Given the description of an element on the screen output the (x, y) to click on. 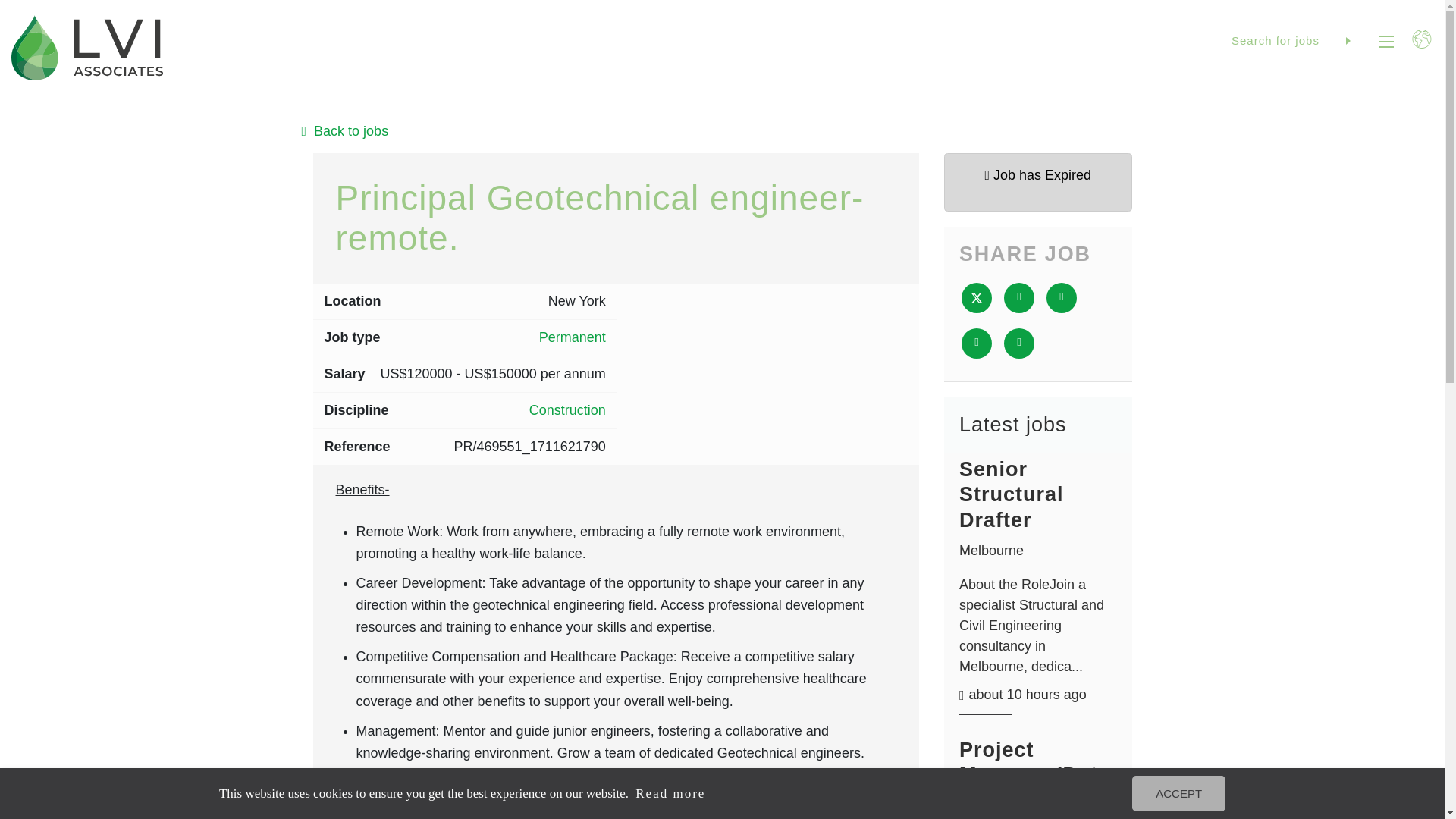
LinkedIn (1256, 715)
LVI Associates SG (87, 47)
Go to the Homepage (79, 577)
Facebook (1222, 715)
Twitter (1291, 715)
YouTube (1359, 715)
ACCEPT (1193, 793)
LinkedIn (1061, 297)
Go to the Homepage (87, 47)
Back to jobs (721, 131)
Construction (567, 410)
Permanent (571, 337)
Facebook (1018, 297)
Read more (683, 793)
Twitter (975, 297)
